Given the description of an element on the screen output the (x, y) to click on. 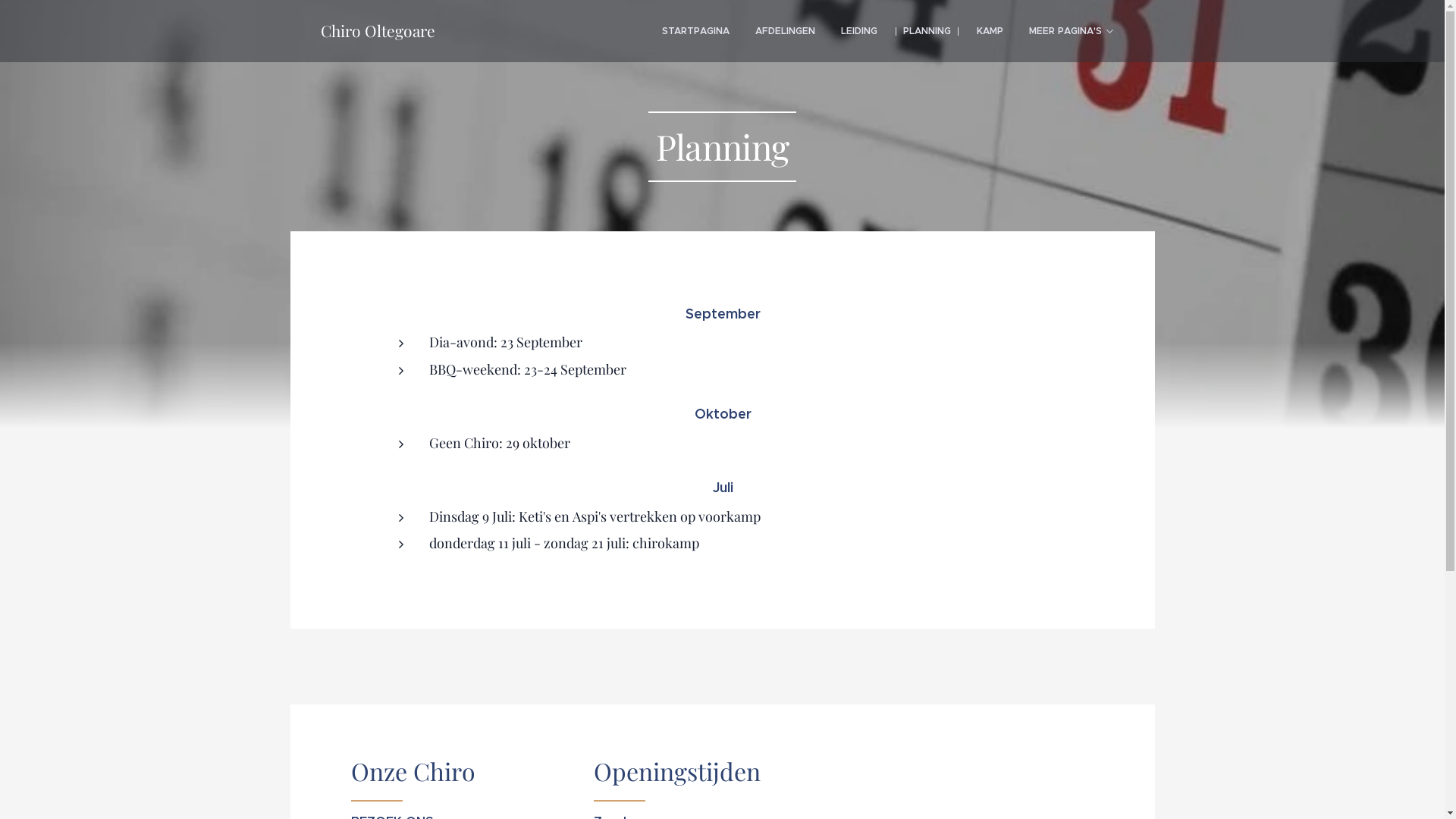
AFDELINGEN Element type: text (784, 31)
MEER PAGINA'S Element type: text (1070, 31)
STARTPAGINA Element type: text (695, 31)
Chiro Oltegoare Element type: text (377, 30)
PLANNING Element type: text (926, 31)
LEIDING Element type: text (859, 31)
KAMP Element type: text (989, 31)
